Given the description of an element on the screen output the (x, y) to click on. 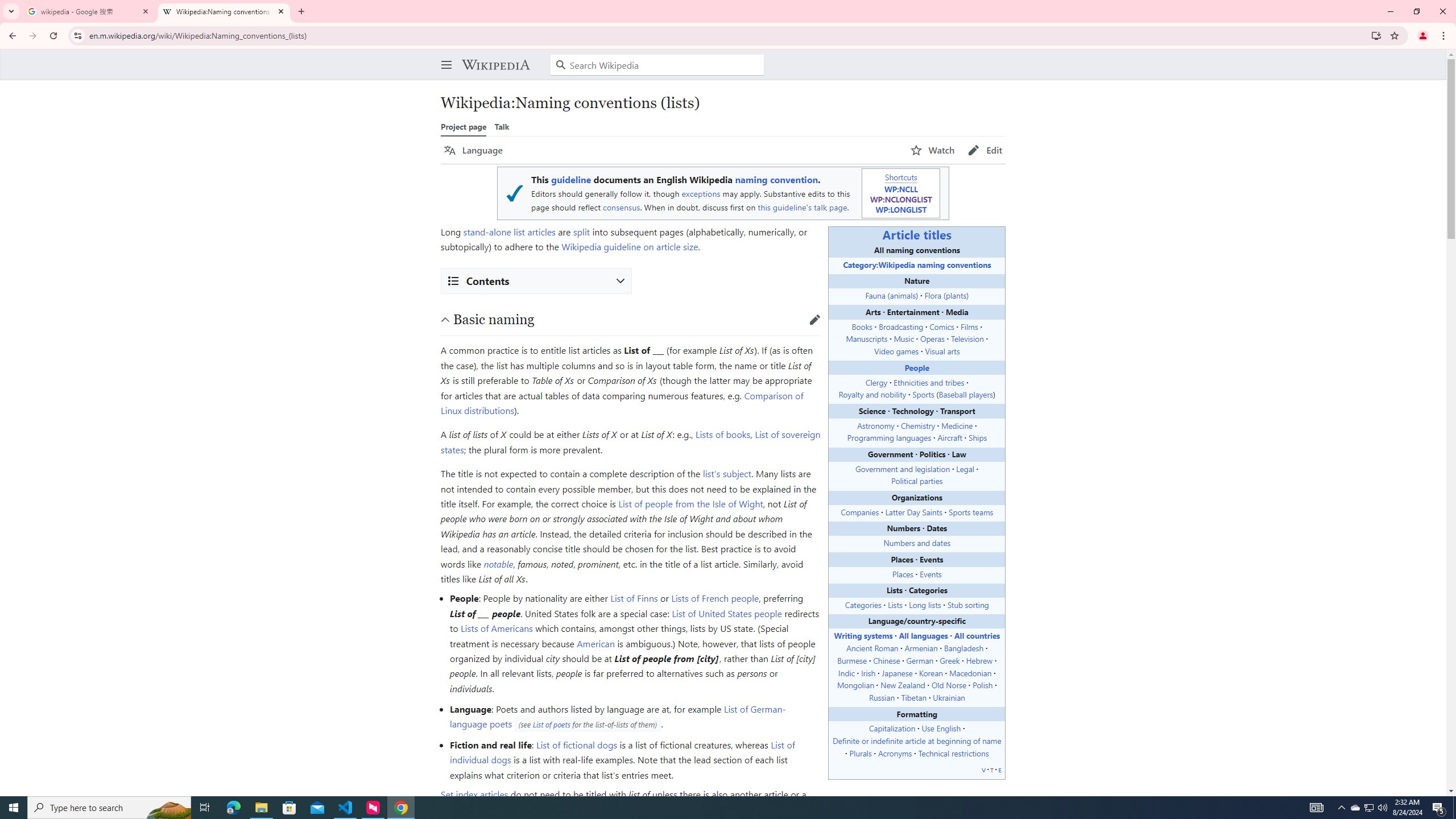
Watch (932, 149)
Flora (plants) (946, 294)
exceptions (700, 193)
Search Wikipedia (657, 64)
Chemistry (916, 424)
Article titles (917, 234)
Baseball players (965, 394)
Operas (932, 338)
Places (901, 573)
Chinese (886, 659)
split (580, 231)
Greek (949, 659)
Comparison of Linux distributions (621, 402)
